Given the description of an element on the screen output the (x, y) to click on. 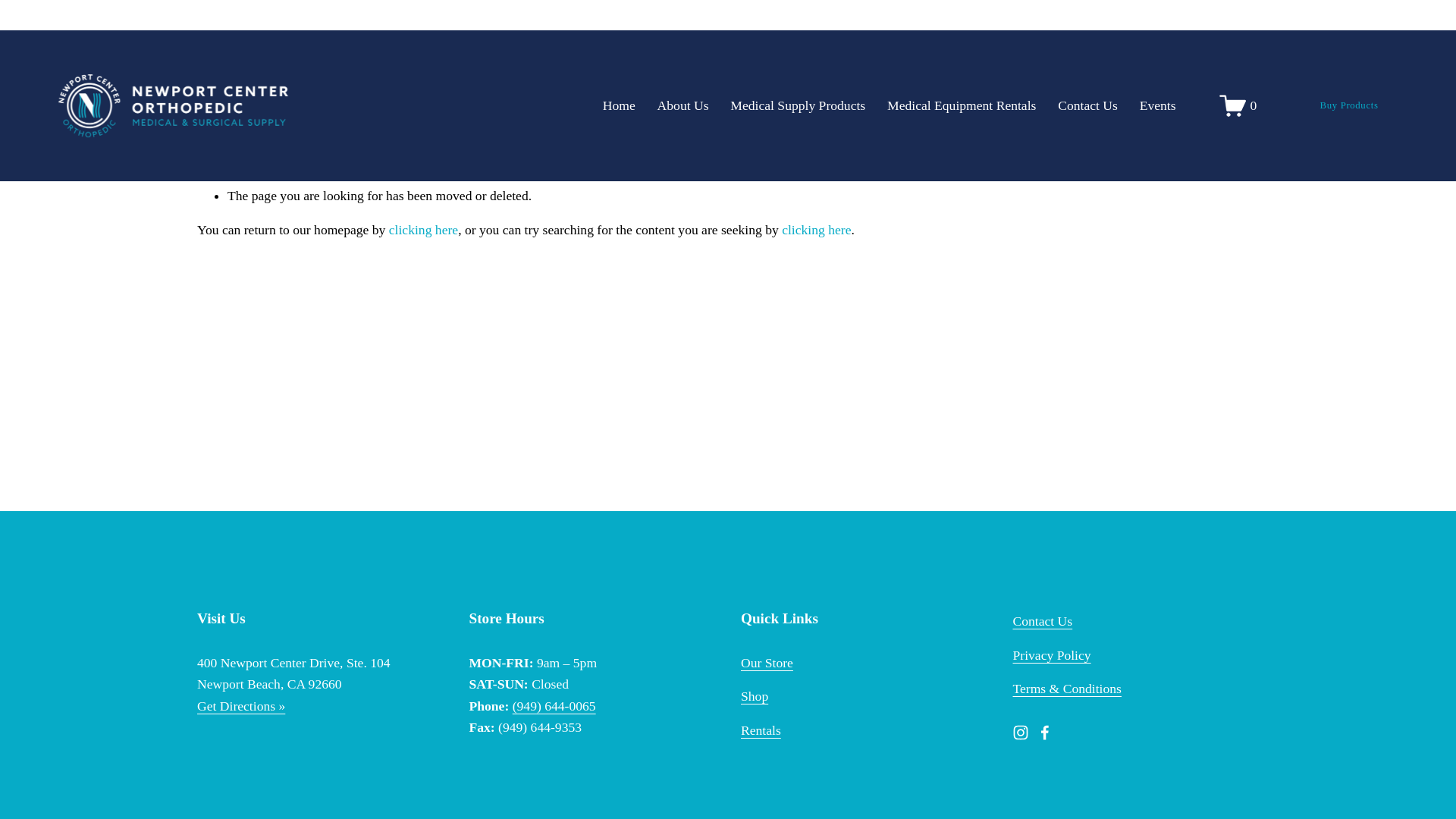
Events (1158, 105)
0 (1238, 105)
Contact Us (1088, 105)
Buy Products (1348, 105)
Medical Equipment Rentals (960, 105)
Medical Supply Products (797, 105)
About Us (683, 105)
Home (618, 105)
